Given the description of an element on the screen output the (x, y) to click on. 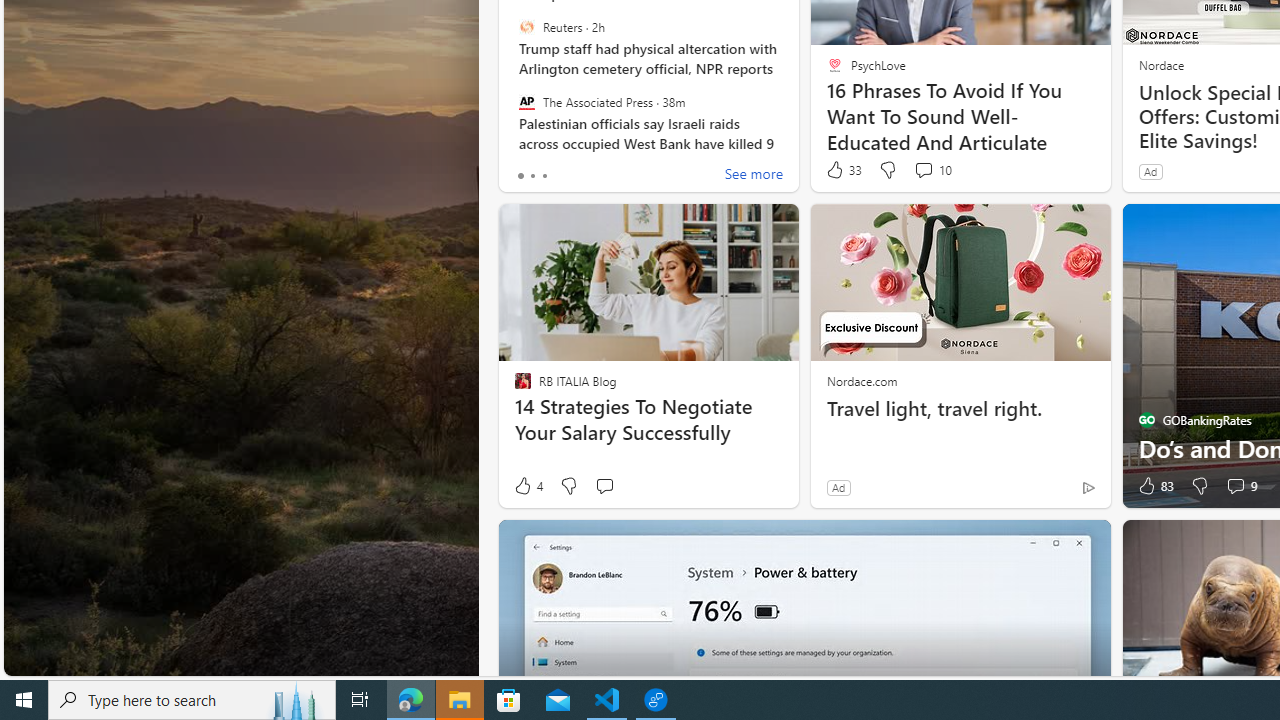
View comments 9 Comment (1240, 485)
33 Like (843, 170)
Reuters (526, 27)
83 Like (1154, 485)
The Associated Press (526, 101)
